Given the description of an element on the screen output the (x, y) to click on. 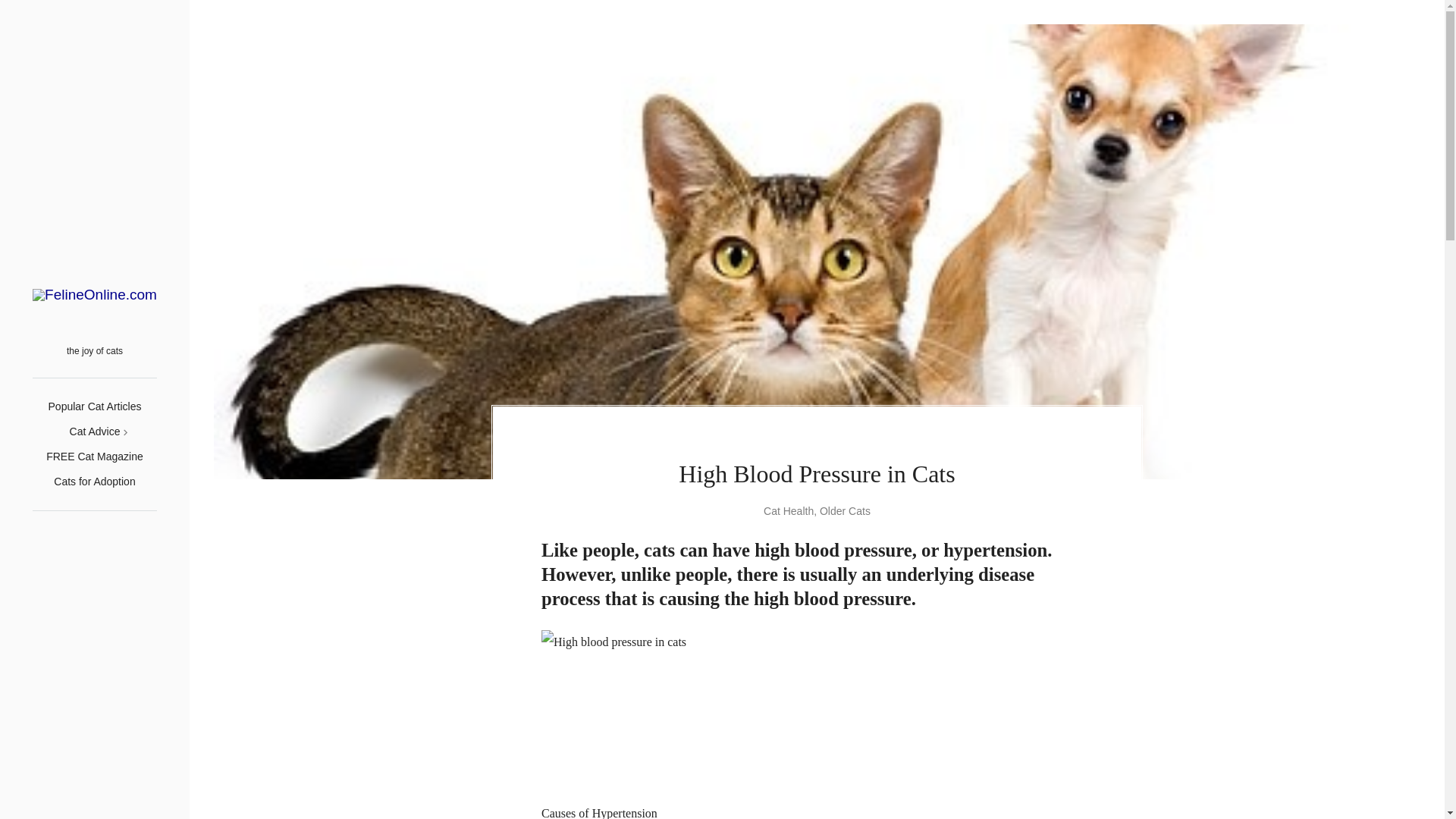
Popular Cat Articles (94, 406)
Cats for Adoption (94, 481)
High blood pressure in cats (654, 705)
Older Cats (844, 510)
Cat Advice (94, 431)
FREE Cat Magazine (94, 456)
Cat Health (787, 510)
